Given the description of an element on the screen output the (x, y) to click on. 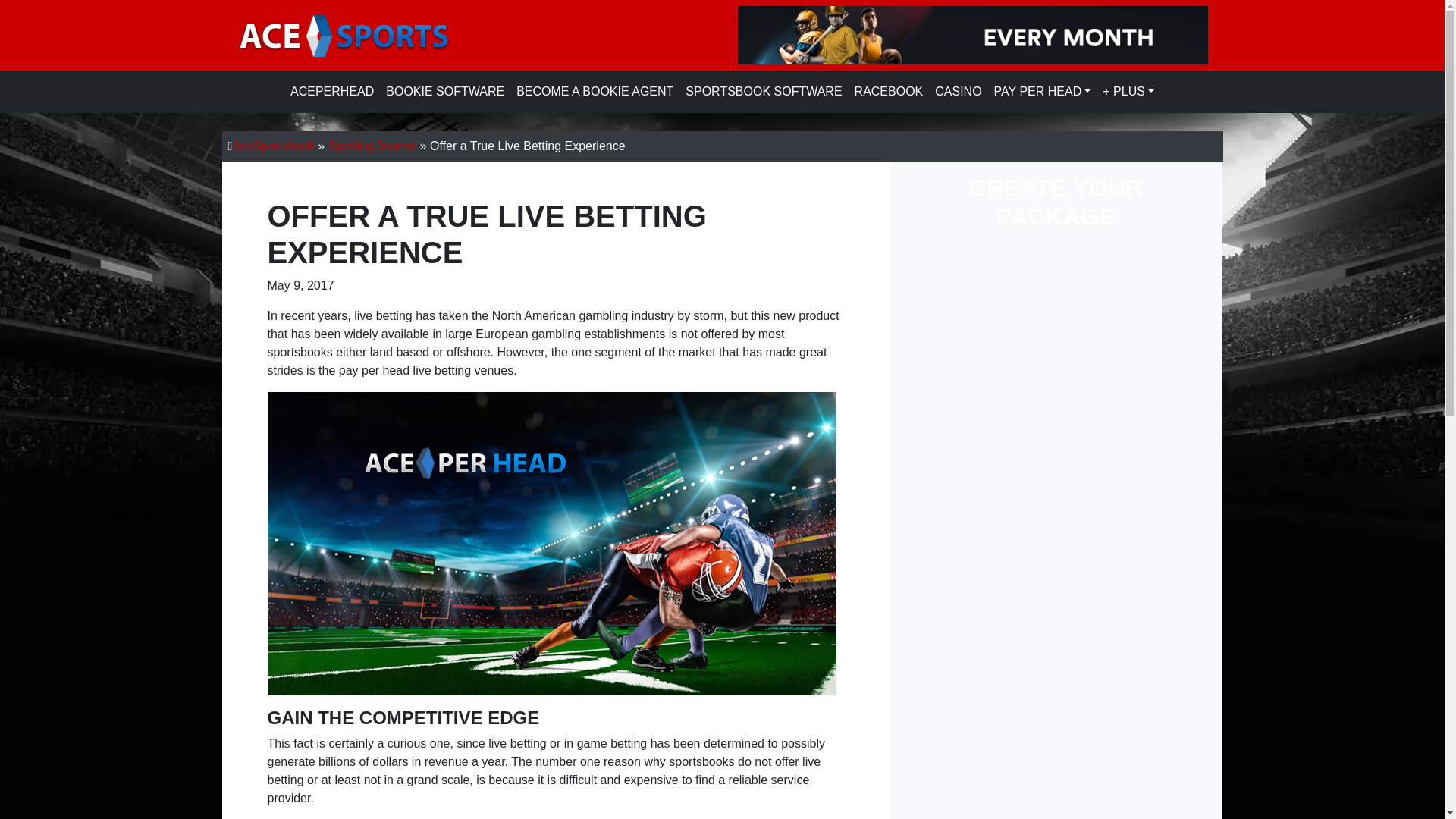
SPORTSBOOK SOFTWARE (763, 91)
CASINO (957, 91)
BECOME A BOOKIE AGENT (595, 91)
RACEBOOK (889, 91)
Sporting Journal (372, 146)
ACEPERHEAD (331, 91)
PAY PER HEAD (1042, 91)
AceSportsbook (272, 145)
BOOKIE SOFTWARE (445, 91)
Horse Gambling at Ace (889, 91)
